Given the description of an element on the screen output the (x, y) to click on. 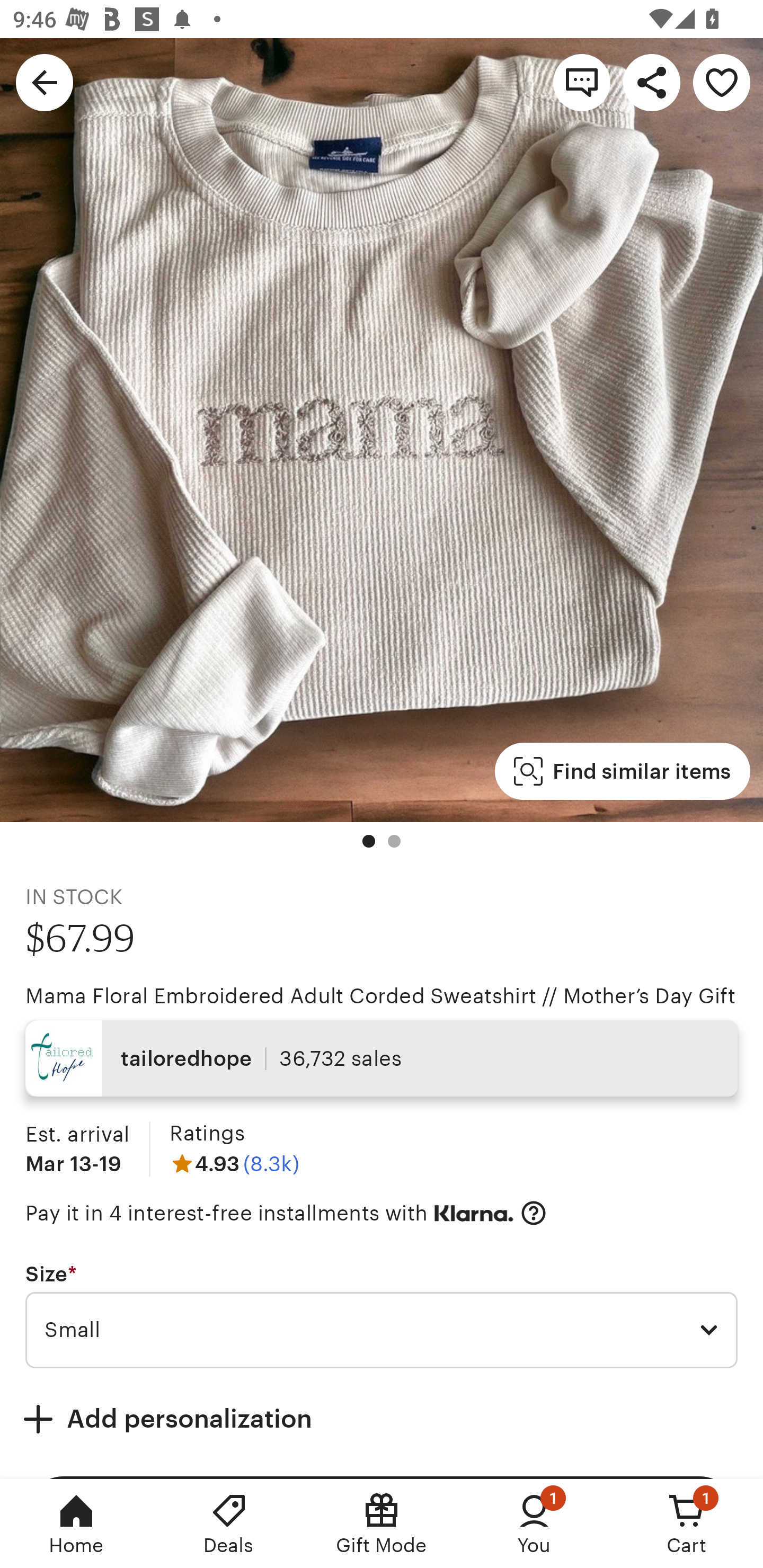
Navigate up (44, 81)
Contact shop (581, 81)
Share (651, 81)
Find similar items (622, 771)
tailoredhope 36,732 sales (381, 1058)
Ratings (206, 1133)
4.93 (8.3k) (234, 1163)
Size * Required Small (381, 1315)
Small (381, 1330)
Add personalization Add personalization Required (381, 1418)
Deals (228, 1523)
Gift Mode (381, 1523)
You, 1 new notification You (533, 1523)
Cart, 1 new notification Cart (686, 1523)
